Given the description of an element on the screen output the (x, y) to click on. 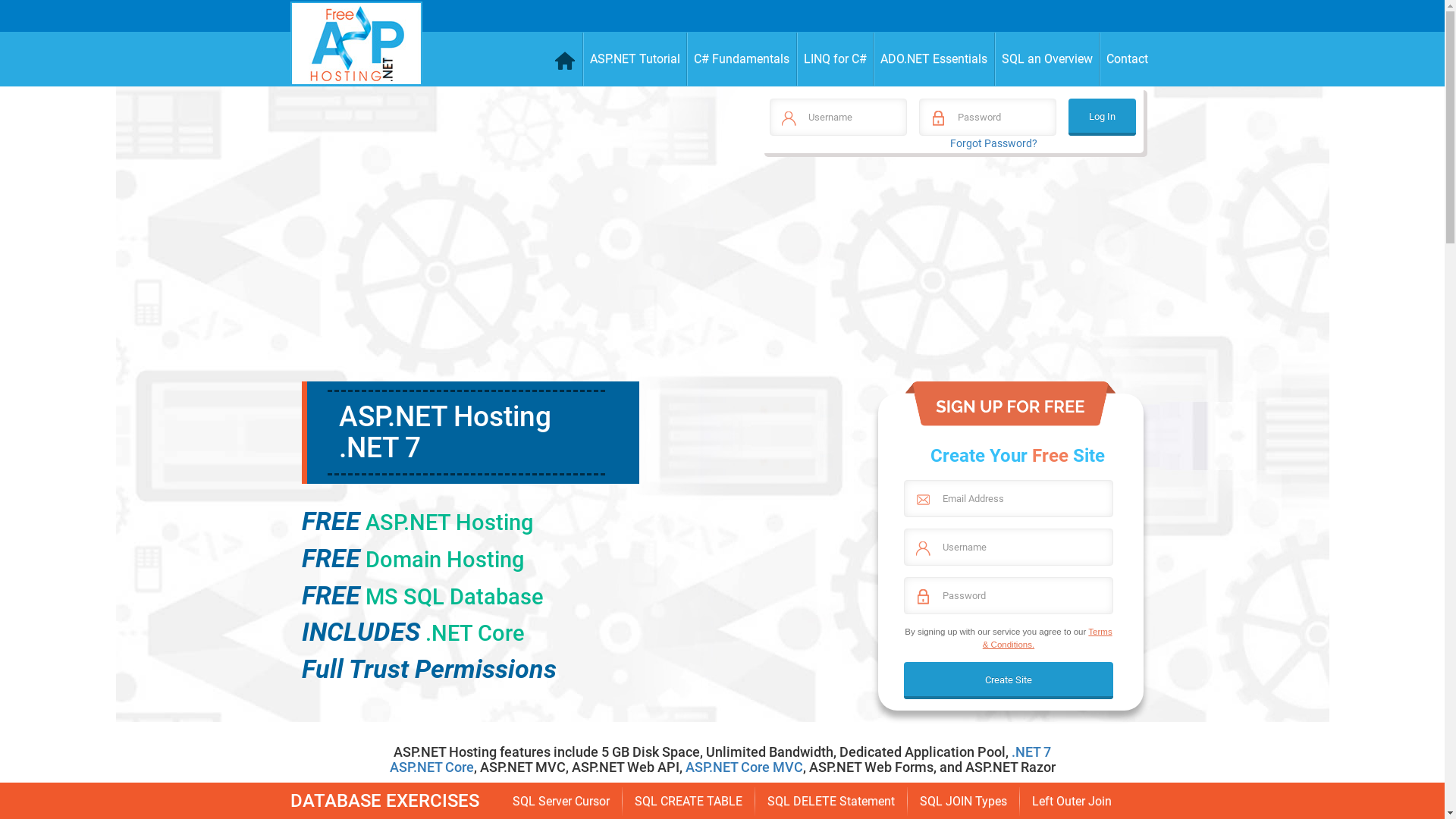
Advertisement Element type: hover (950, 274)
ASP.NET Tutorial Element type: text (634, 58)
Log In Element type: text (1101, 116)
ADO.NET Essentials Element type: text (933, 58)
SQL an Overview Element type: text (1047, 58)
ASP.NET Core Element type: text (431, 767)
ASP.NET Hosting .NET 7 Element type: text (444, 432)
Terms & Conditions. Element type: text (1047, 637)
C# Fundamentals Element type: text (742, 58)
LINQ for C# Element type: text (834, 58)
Forgot Password? Element type: text (993, 143)
Check User Element type: text (30, 18)
Contact Element type: text (1126, 58)
ASP.NET Core MVC Element type: text (744, 767)
.NET 7 Element type: text (1031, 751)
Create Site Element type: text (1008, 680)
